Given the description of an element on the screen output the (x, y) to click on. 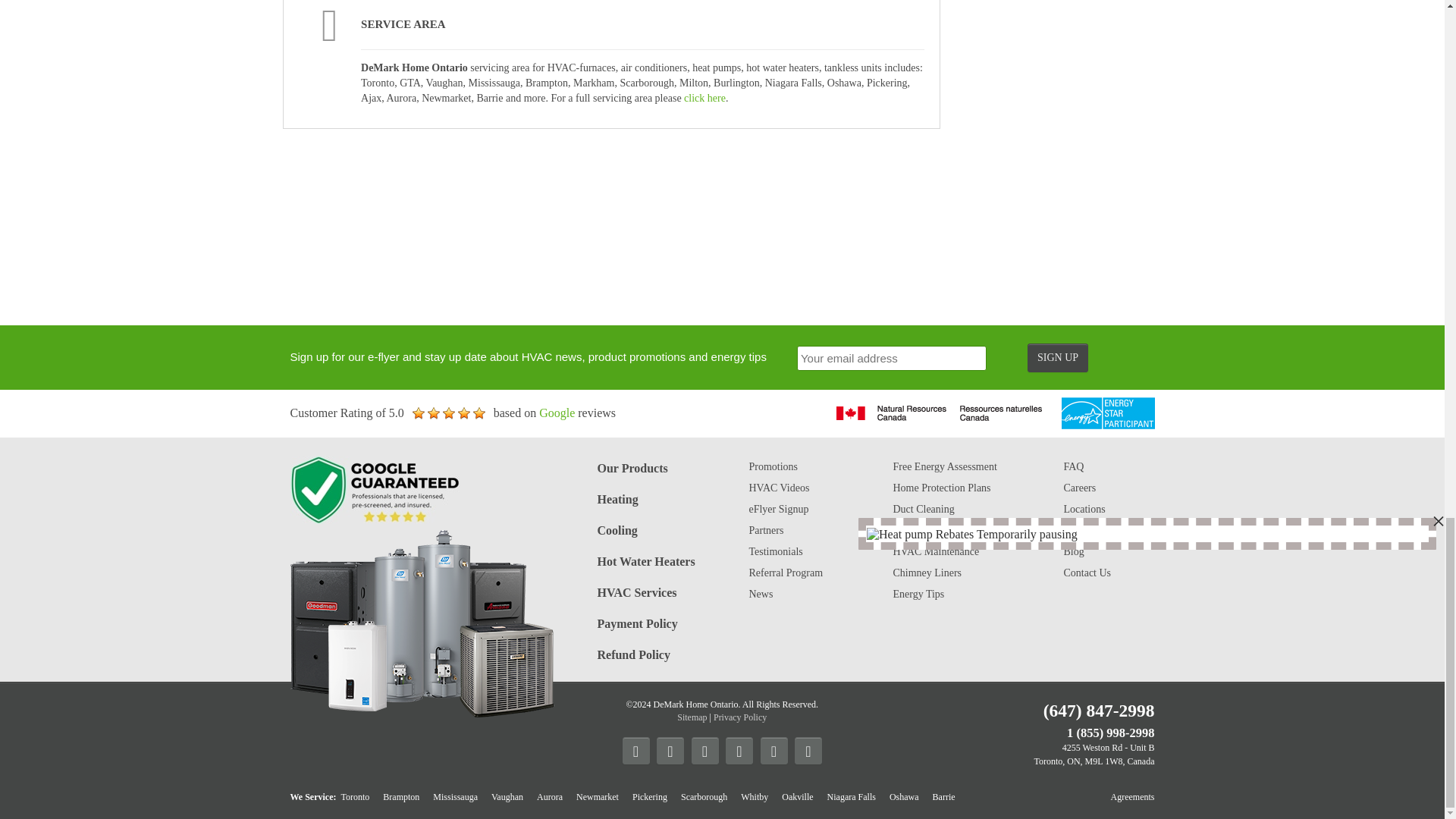
Sign Up (1057, 357)
